Given the description of an element on the screen output the (x, y) to click on. 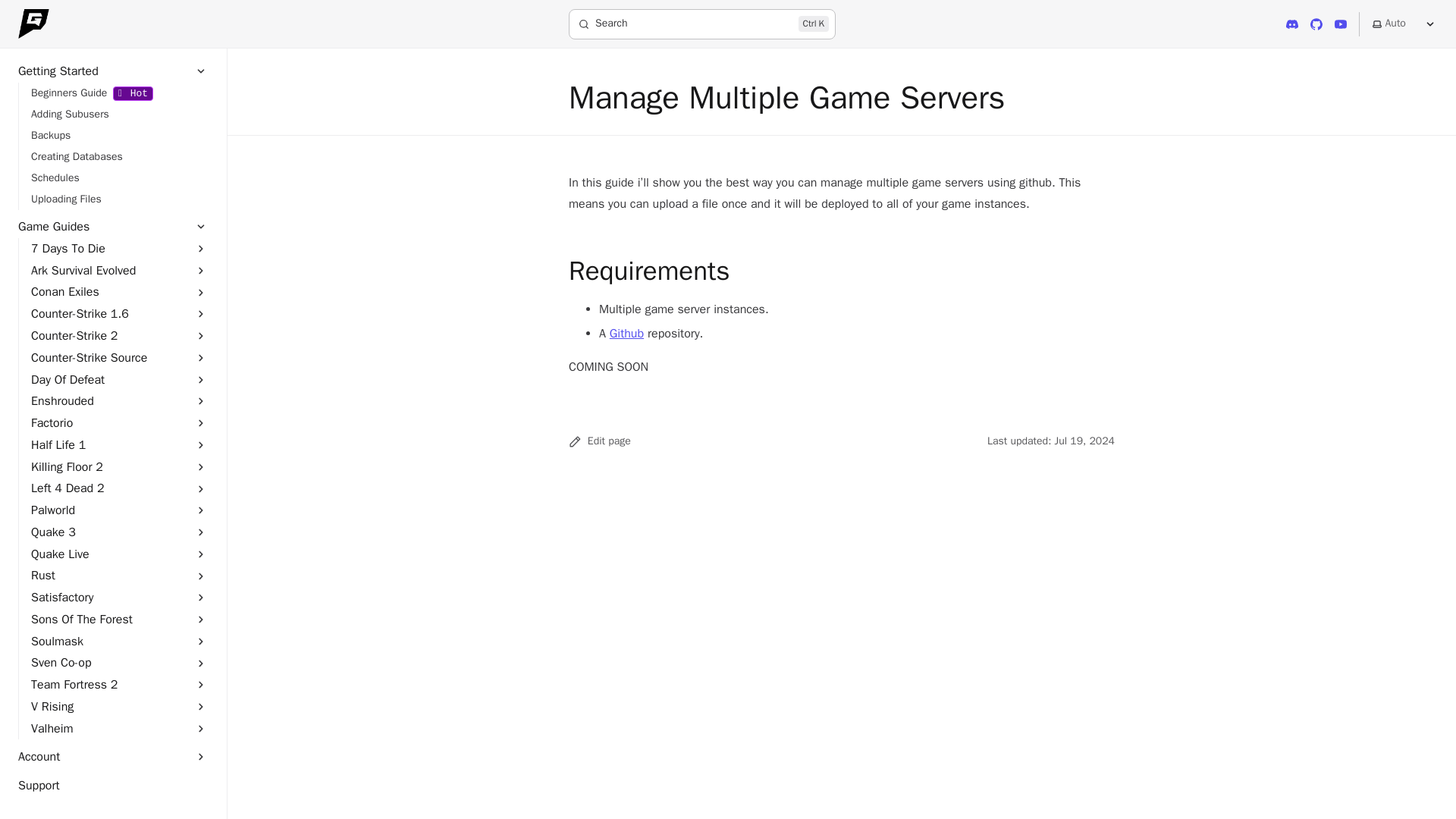
GitHub (1315, 24)
Uploading Files (119, 199)
YouTube (1339, 24)
Backups (119, 135)
Schedules (119, 178)
Game Host Bros Guides (702, 24)
Discord (33, 24)
Adding Subusers (1291, 24)
Creating Databases (119, 114)
Skip to content (119, 156)
